Given the description of an element on the screen output the (x, y) to click on. 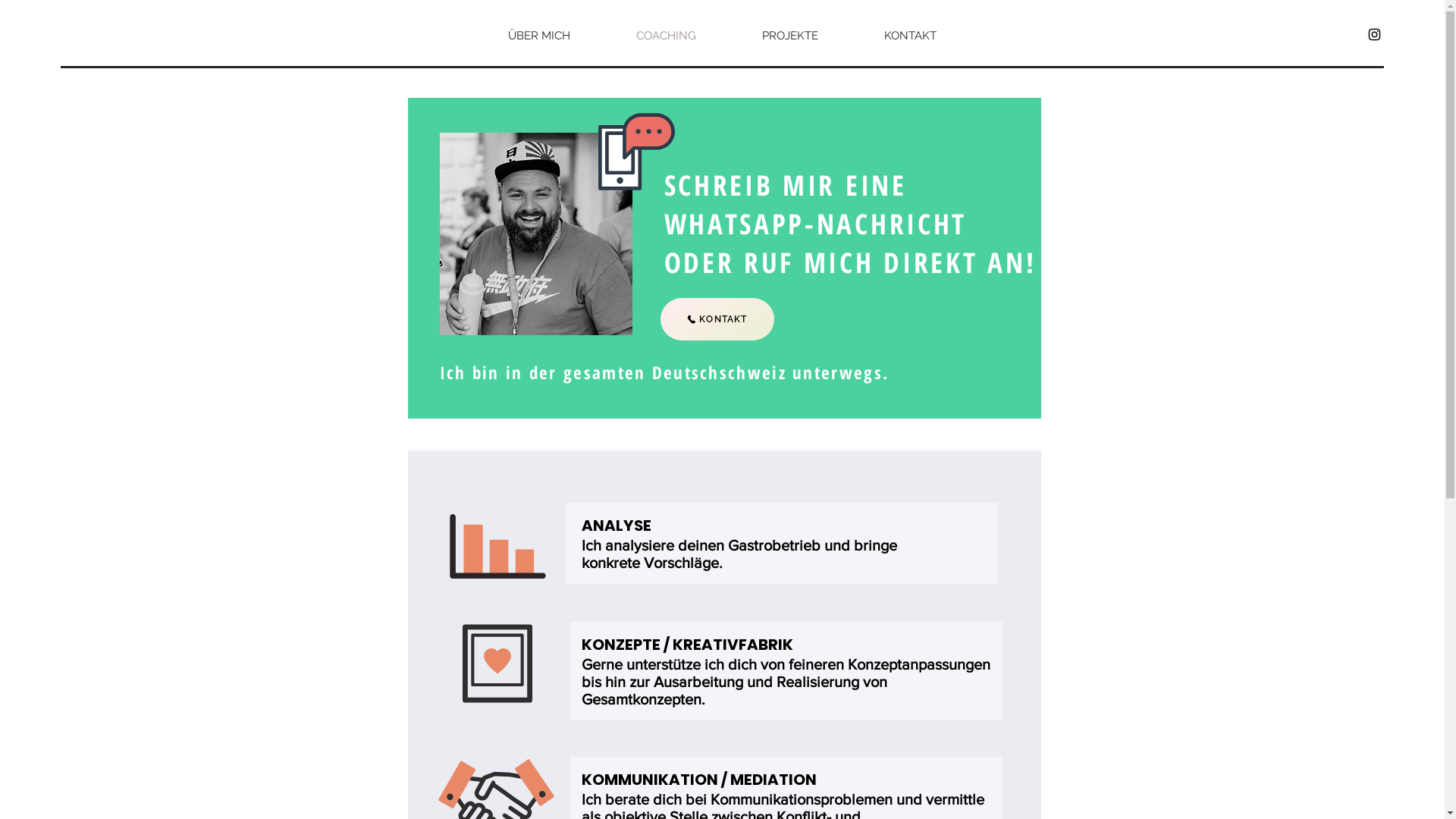
KONTAKT Element type: text (716, 319)
PROJEKTE Element type: text (790, 35)
COACHING Element type: text (666, 35)
KONTAKT Element type: text (909, 35)
